Given the description of an element on the screen output the (x, y) to click on. 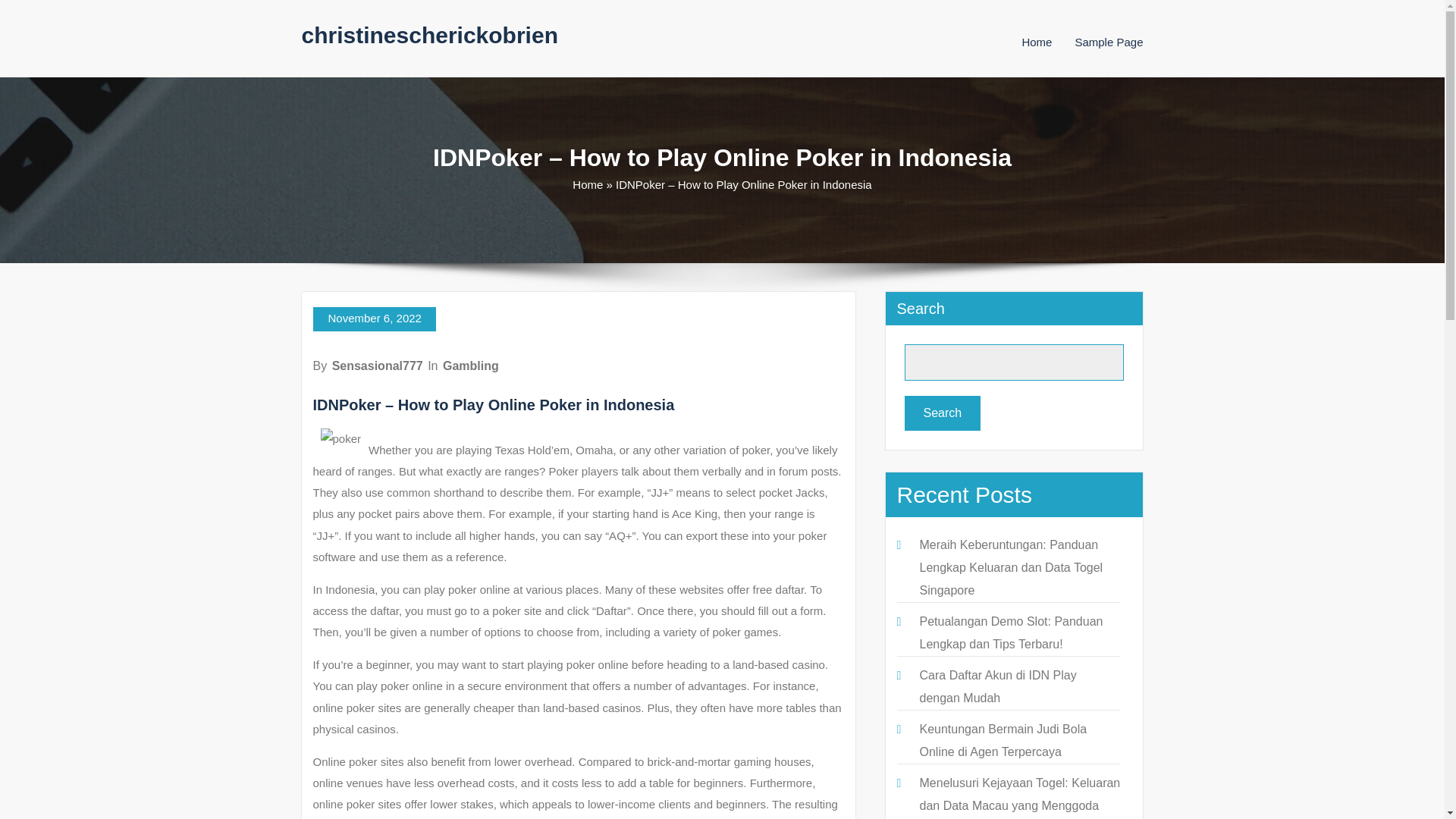
November 6, 2022 (374, 319)
Petualangan Demo Slot: Panduan Lengkap dan Tips Terbaru! (1010, 632)
Cara Daftar Akun di IDN Play dengan Mudah (996, 686)
Gambling (470, 365)
christinescherickobrien (429, 34)
Search (941, 412)
Home (587, 184)
Home (1036, 41)
Home (1036, 41)
Keuntungan Bermain Judi Bola Online di Agen Terpercaya (1002, 740)
Sensasional777 (377, 365)
Sample Page (1108, 41)
